Given the description of an element on the screen output the (x, y) to click on. 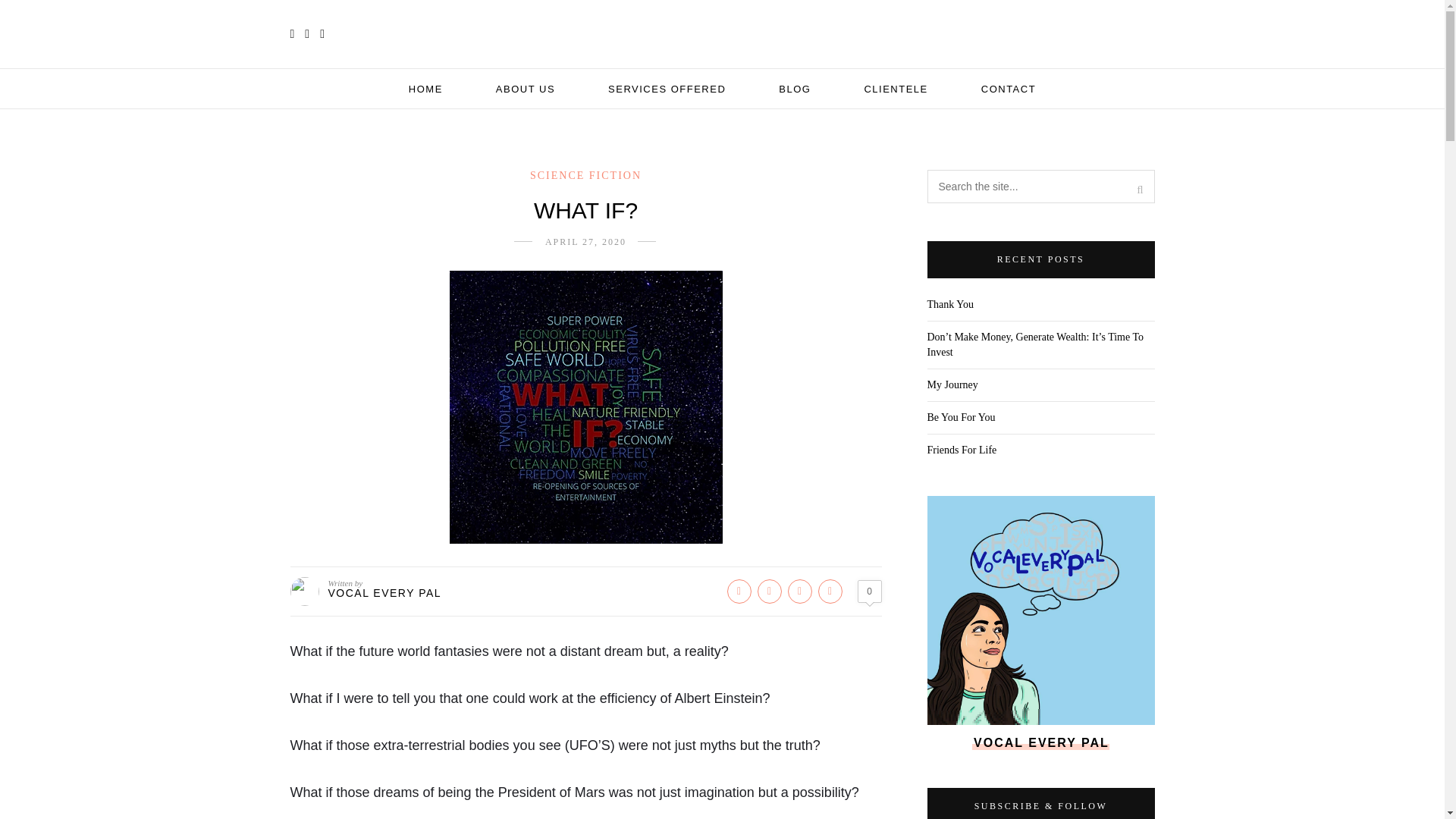
0 (868, 590)
CONTACT (1008, 88)
VOCAL EVERY PAL (384, 592)
ABOUT US (525, 88)
CLIENTELE (895, 88)
APRIL 27, 2020 (585, 241)
SCIENCE FICTION (585, 174)
Posts by Vocal Every Pal (384, 592)
SERVICES OFFERED (666, 88)
